Given the description of an element on the screen output the (x, y) to click on. 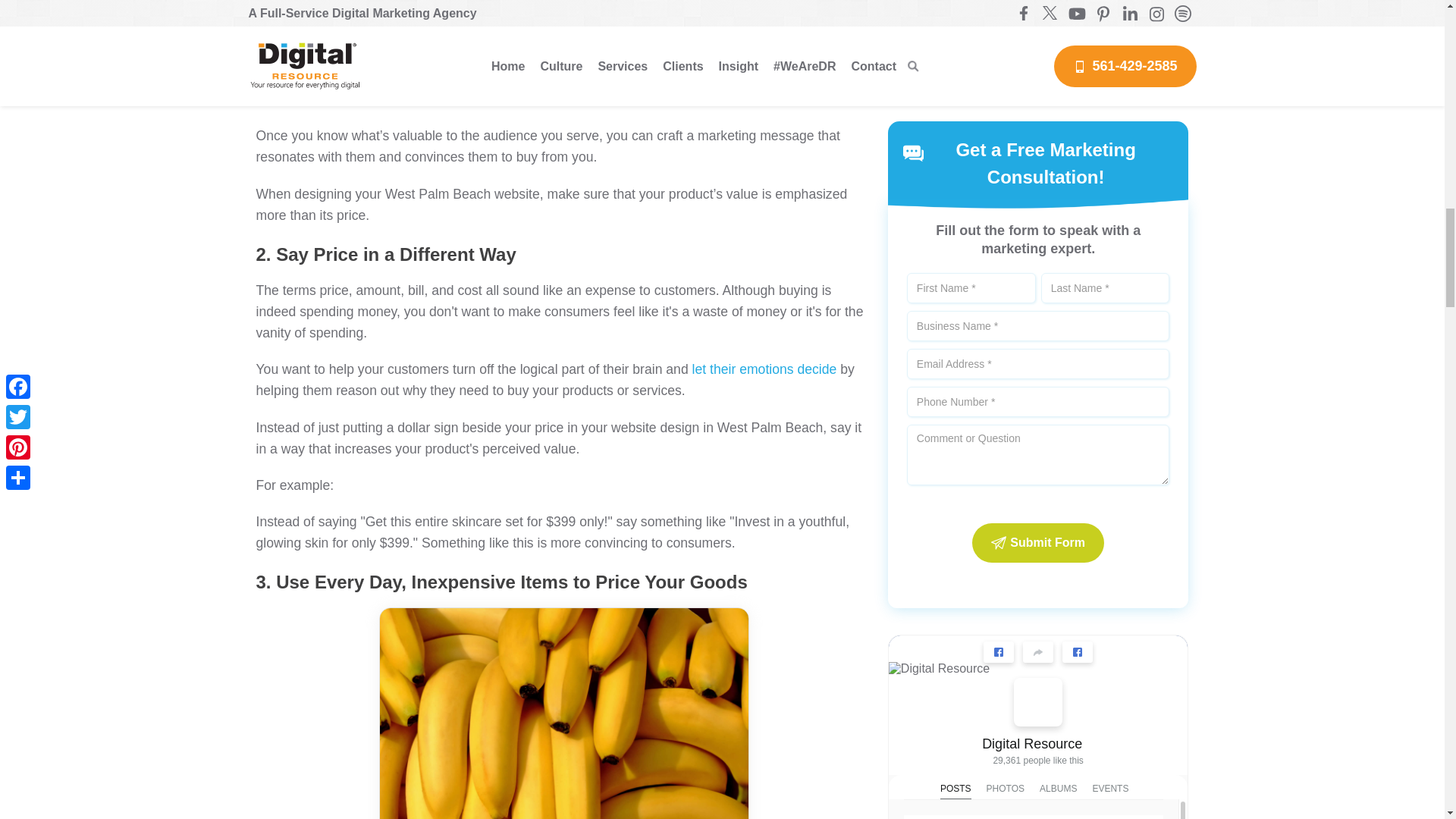
Like: 6 (921, 412)
Like: 1 (921, 177)
Like: 9 (921, 646)
